Given the description of an element on the screen output the (x, y) to click on. 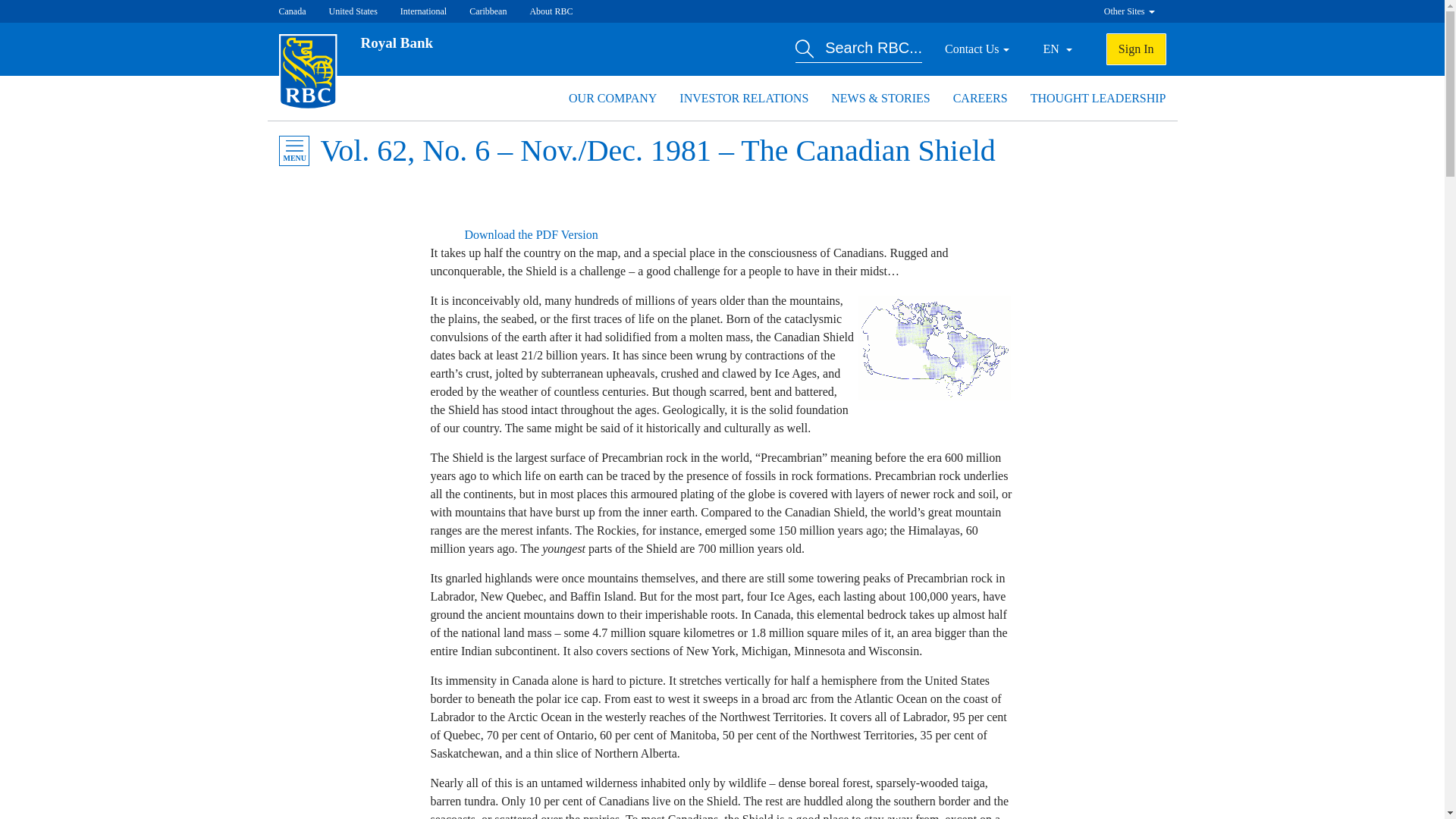
About RBC (550, 10)
United States (353, 10)
INVESTOR RELATIONS (743, 98)
OUR COMPANY (612, 98)
Other Sites (1128, 10)
CAREERS (980, 98)
Royal Bank (397, 42)
Caribbean (487, 10)
THOUGHT LEADERSHIP (1098, 98)
Sign In (1136, 49)
Canada (292, 10)
International (423, 10)
